Given the description of an element on the screen output the (x, y) to click on. 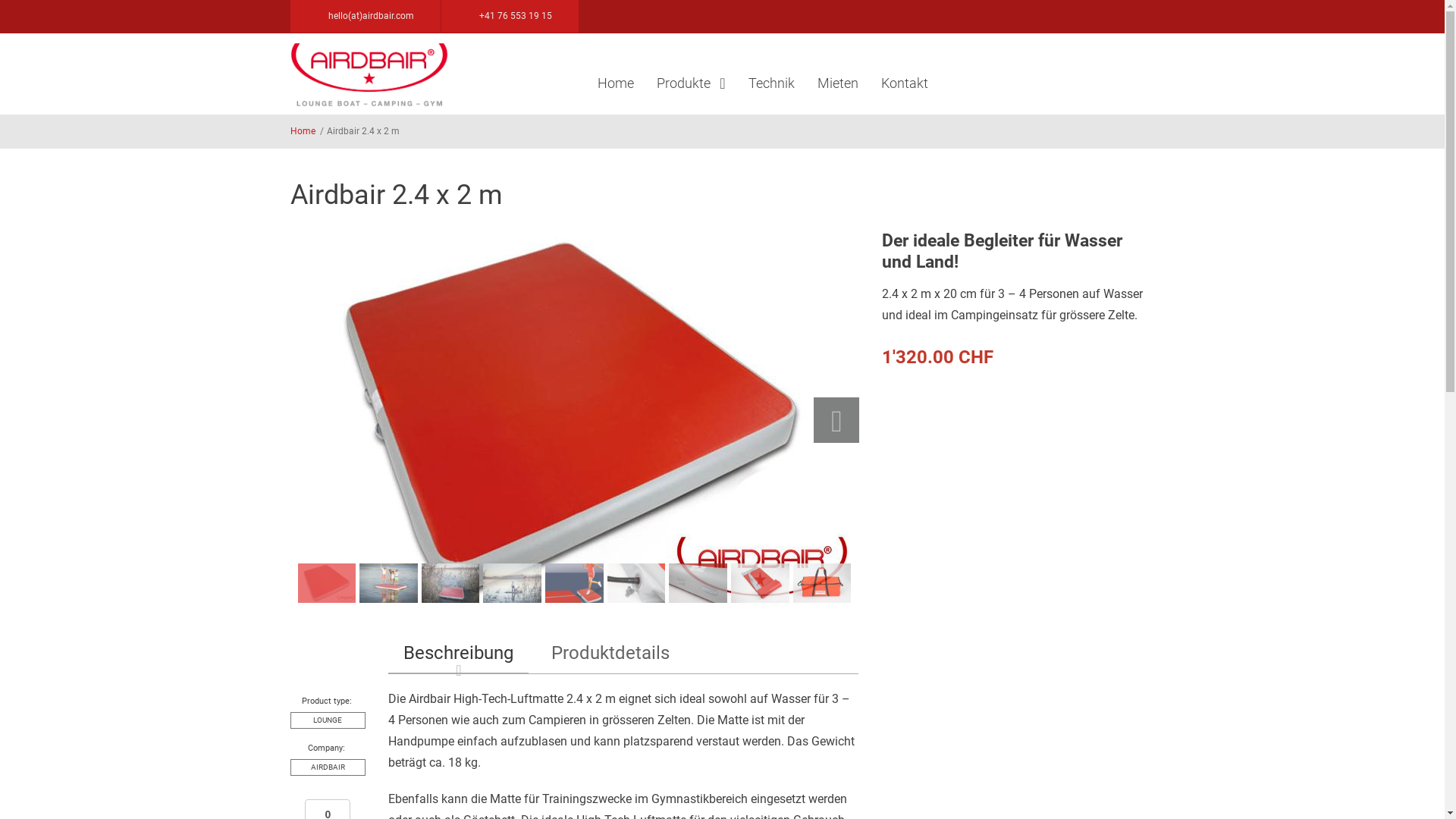
Airdbair 2.4 x 2 m Element type: hover (573, 419)
Produktdetails Element type: text (610, 652)
Home Element type: text (301, 130)
Airdbair 2.4 x 2 m Element type: hover (636, 582)
Home Element type: hover (368, 74)
Home Element type: text (614, 82)
Airdbair 2.4 x 2 m Element type: hover (512, 582)
Airdbair 2.4 x 2 m Element type: hover (760, 582)
Airdbair 2.4 x 2 m Element type: hover (574, 582)
Airdbair 2.4 x 2 m Element type: hover (822, 582)
Technik Element type: text (771, 82)
Skip to main content Element type: text (55, 0)
Airdbair 2.4 x 2 m Element type: hover (388, 582)
LOUNGE Element type: text (327, 720)
AIRDBAIR Element type: text (327, 767)
Mieten Element type: text (837, 82)
Kontakt Element type: text (903, 82)
Produkte Element type: text (690, 82)
Airdbair 2.4 x 2 m Element type: hover (326, 582)
Airdbair 2.4 x 2 m Element type: hover (450, 582)
Airdbair 2.4 x 2 m Element type: hover (697, 582)
Beschreibung
(active tab) Element type: text (458, 653)
